Given the description of an element on the screen output the (x, y) to click on. 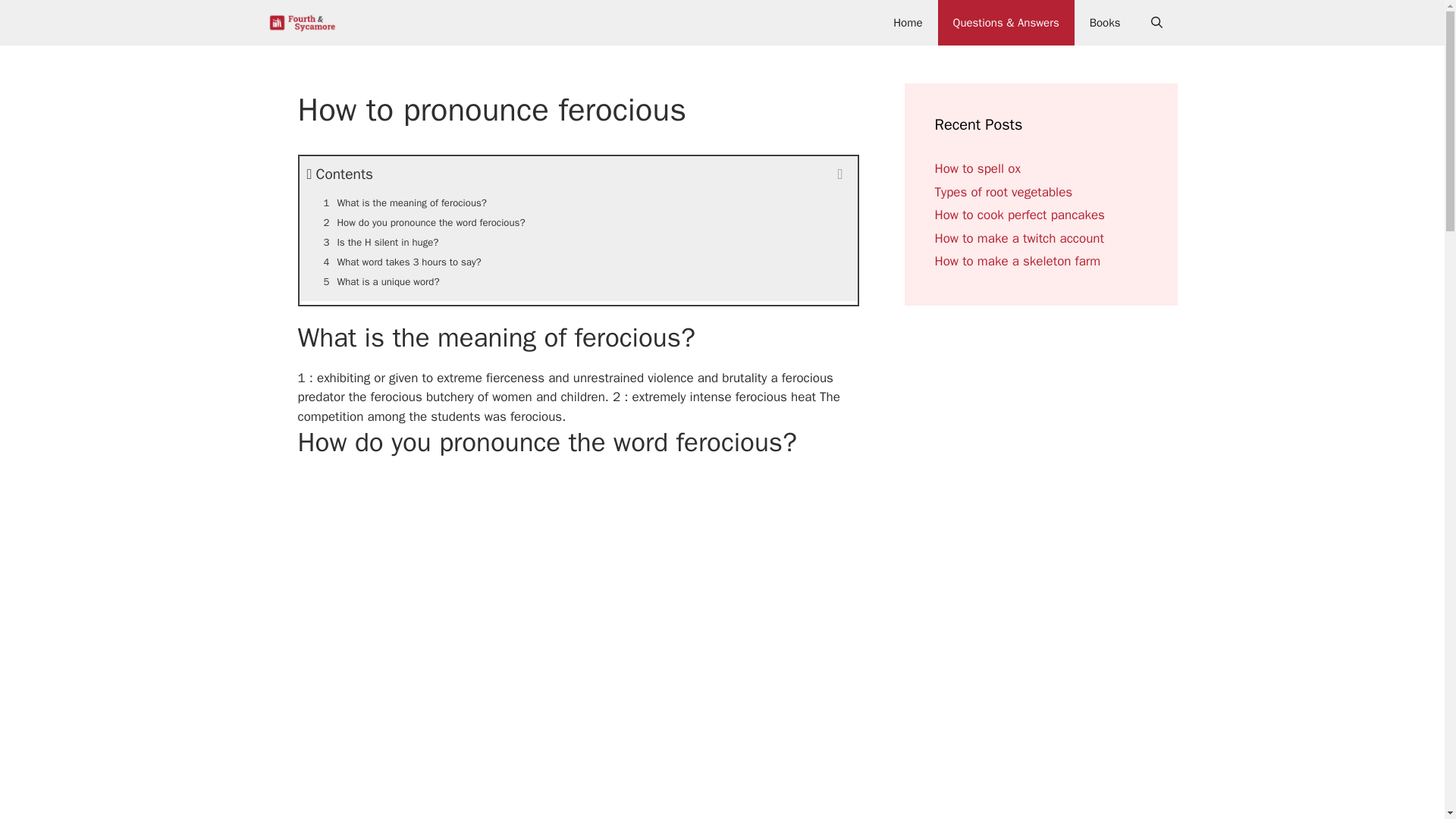
Books (1104, 22)
What is the meaning of ferocious? (577, 202)
How do you pronounce the word ferocious? (577, 222)
Home (907, 22)
Is the H silent in huge? (577, 242)
What word takes 3 hours to say? (577, 261)
What is a unique word? (577, 281)
